Given the description of an element on the screen output the (x, y) to click on. 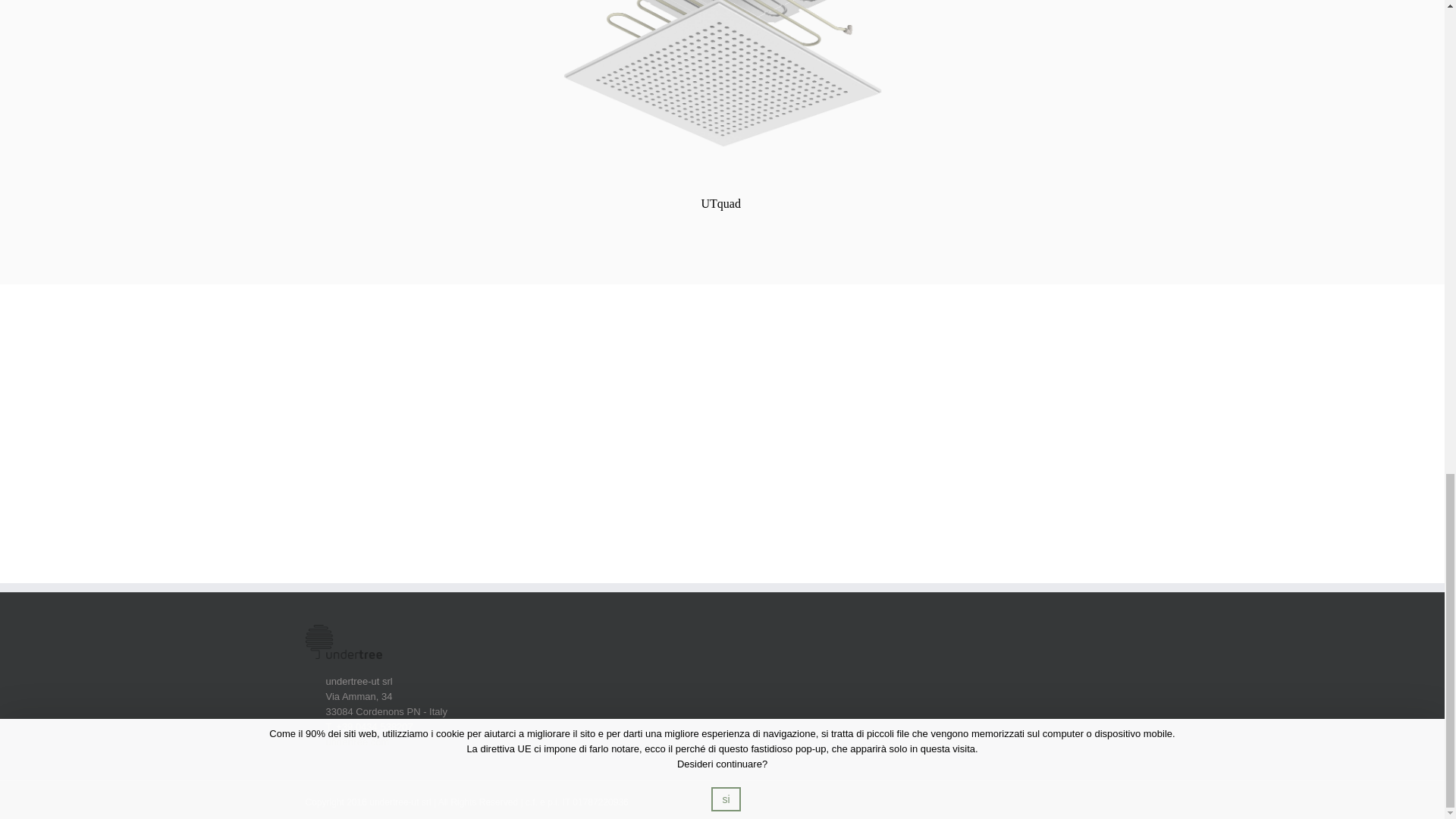
undertree.com (346, 741)
